Given the description of an element on the screen output the (x, y) to click on. 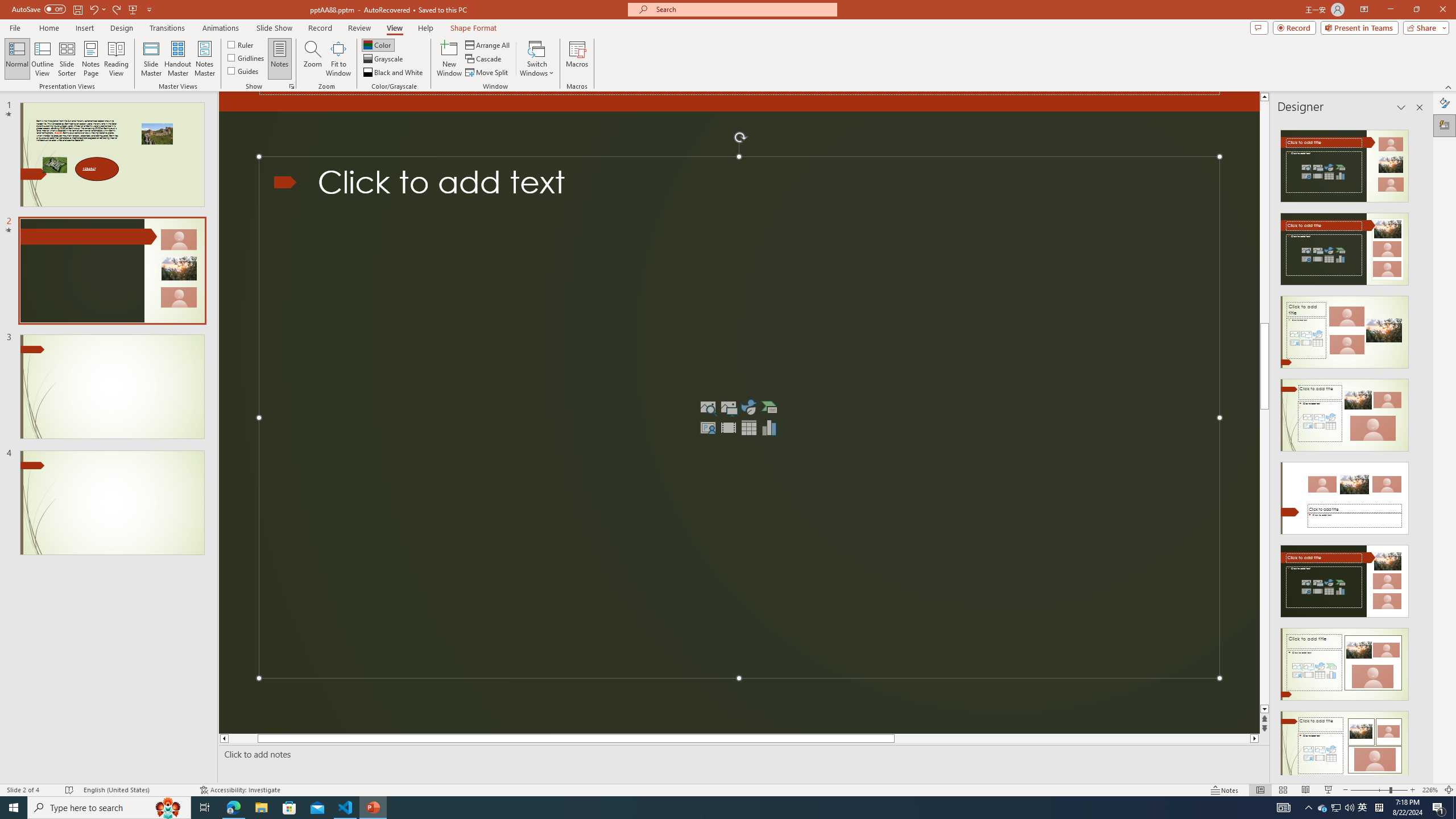
Switch Windows (537, 58)
Fit to Window (338, 58)
Zoom 226% (1430, 790)
Insert Cameo (707, 427)
Insert an Icon (748, 407)
